Given the description of an element on the screen output the (x, y) to click on. 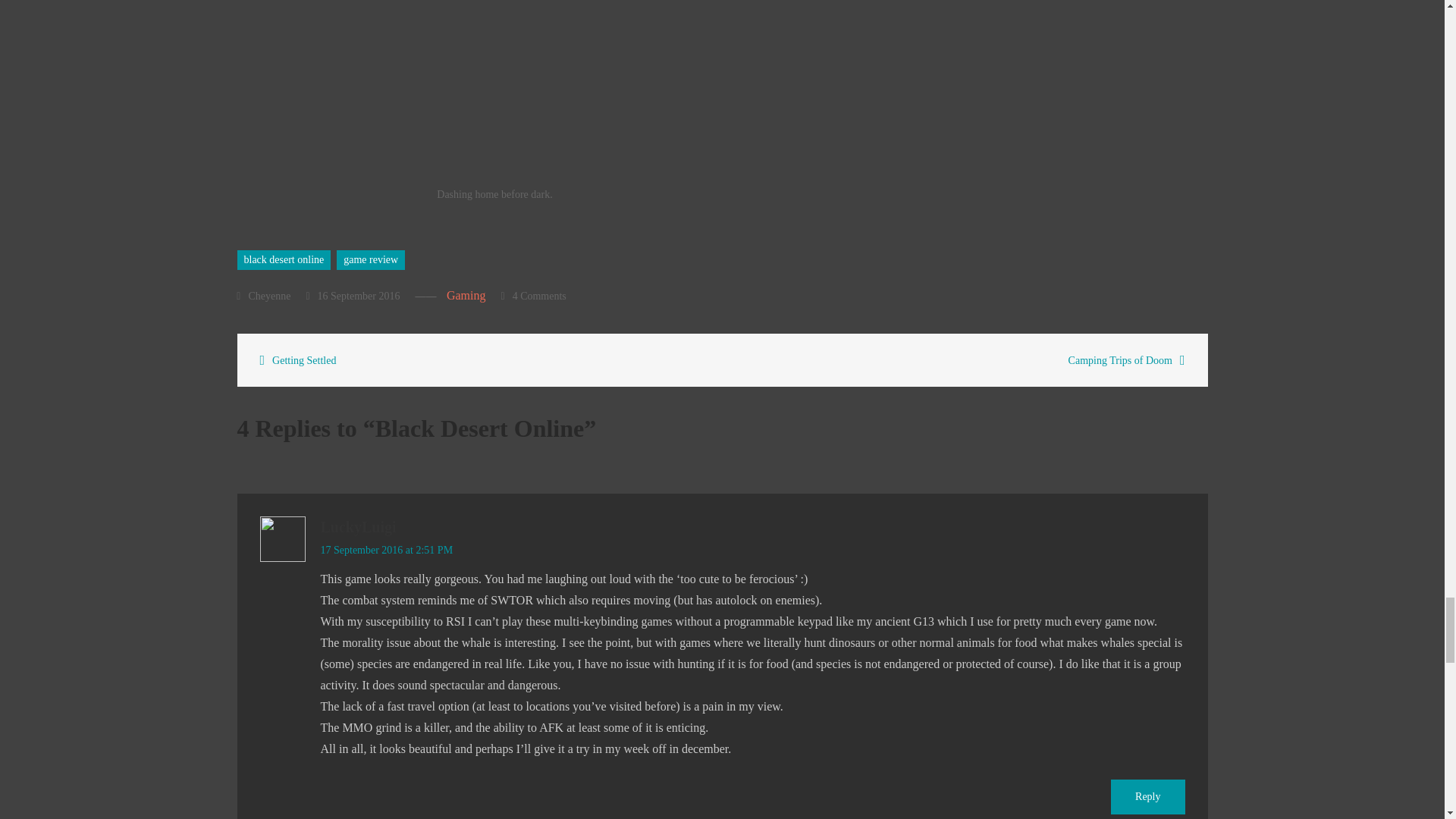
black desert online (282, 260)
Cheyenne (262, 296)
16 September 2016 (351, 296)
game review (370, 260)
Gaming (466, 295)
